Given the description of an element on the screen output the (x, y) to click on. 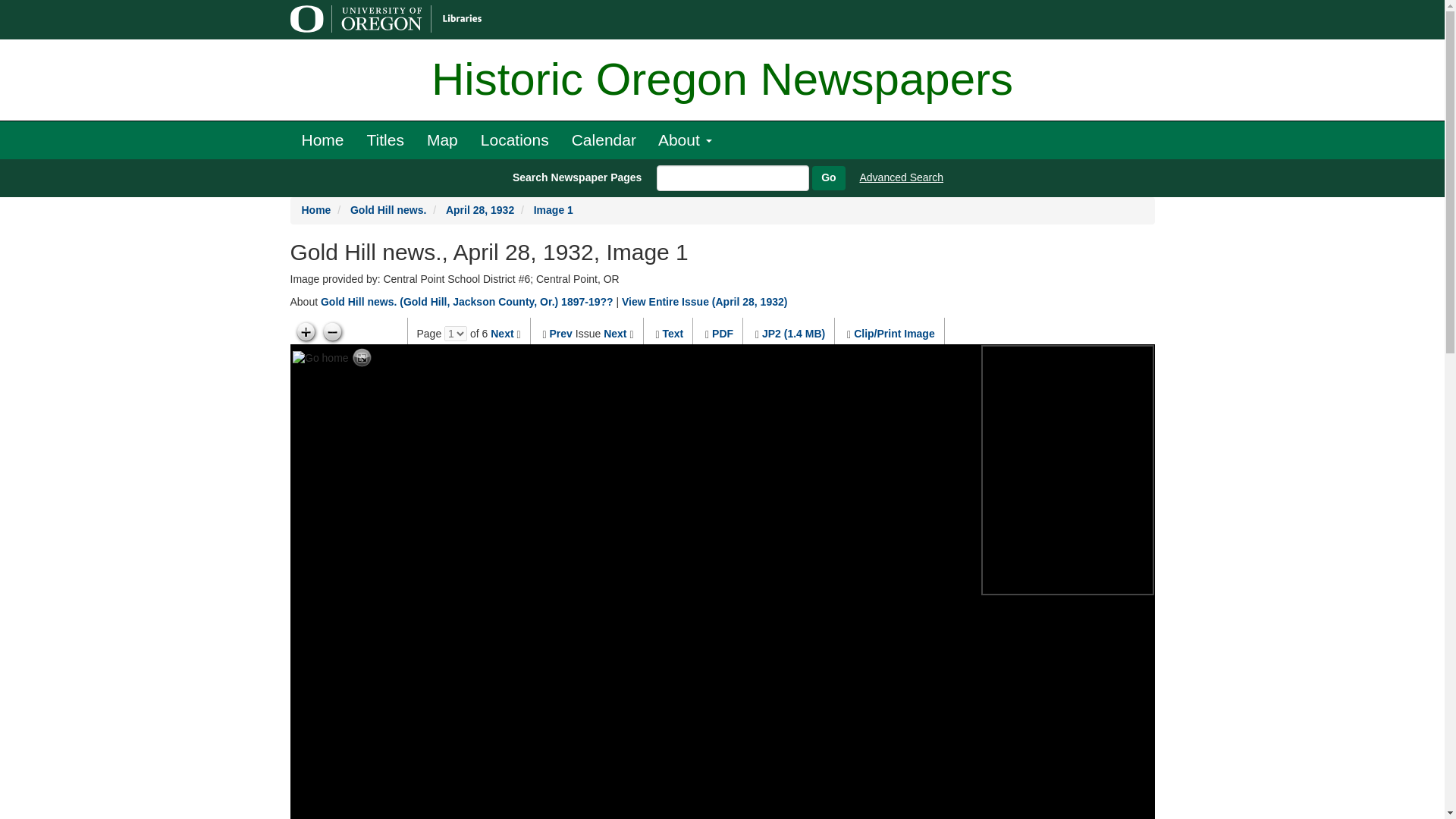
Map (441, 139)
Prev (561, 333)
Toggle full page (362, 358)
Text (672, 333)
Next (501, 333)
Locations (514, 139)
PDF (722, 333)
Home (322, 139)
Zoom in (305, 332)
Go (828, 178)
